Given the description of an element on the screen output the (x, y) to click on. 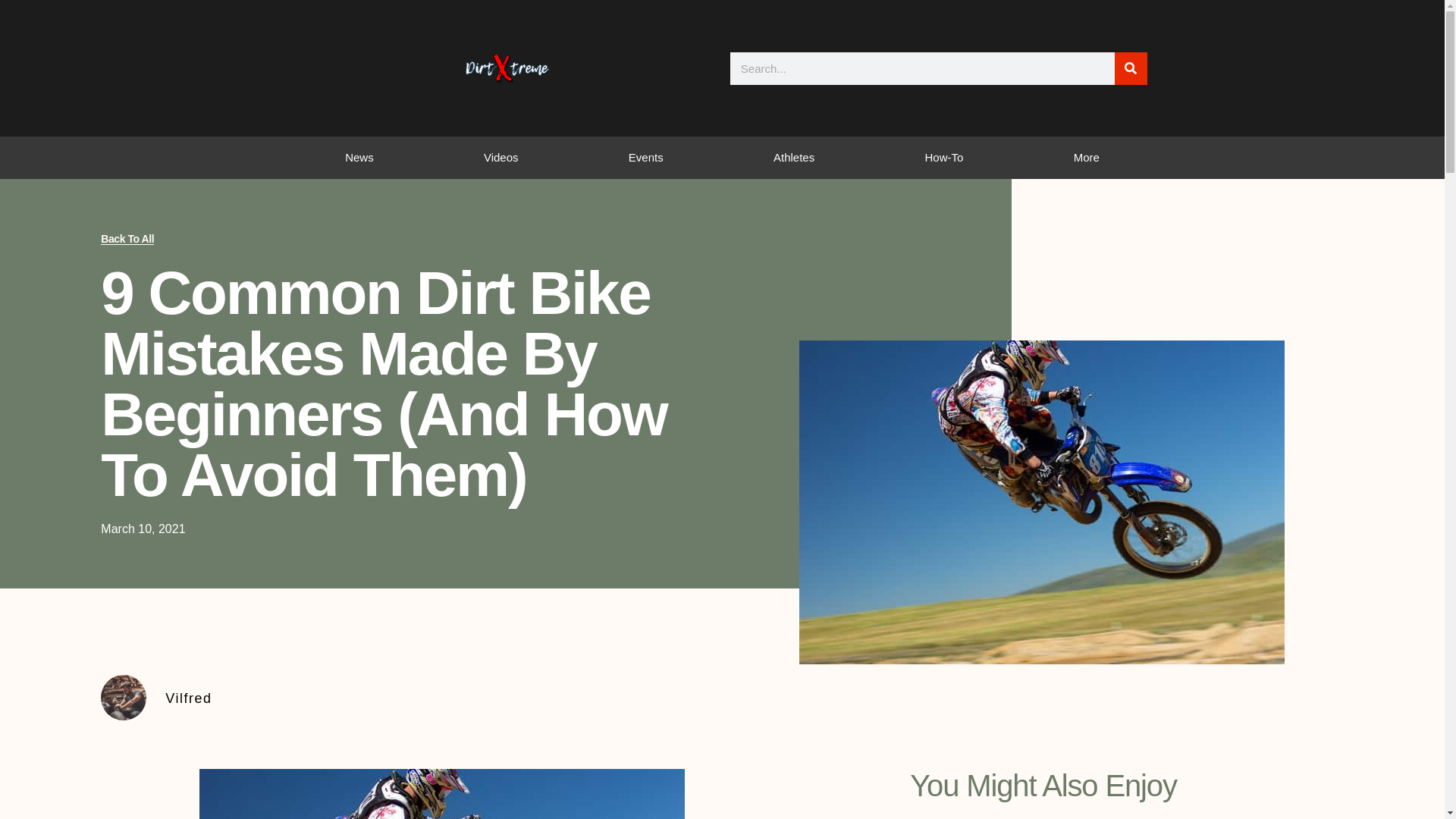
Back To All (127, 238)
News (358, 157)
How-To (943, 157)
Events (645, 157)
Athletes (793, 157)
Vilfred (753, 698)
Videos (500, 157)
More (1085, 157)
